Given the description of an element on the screen output the (x, y) to click on. 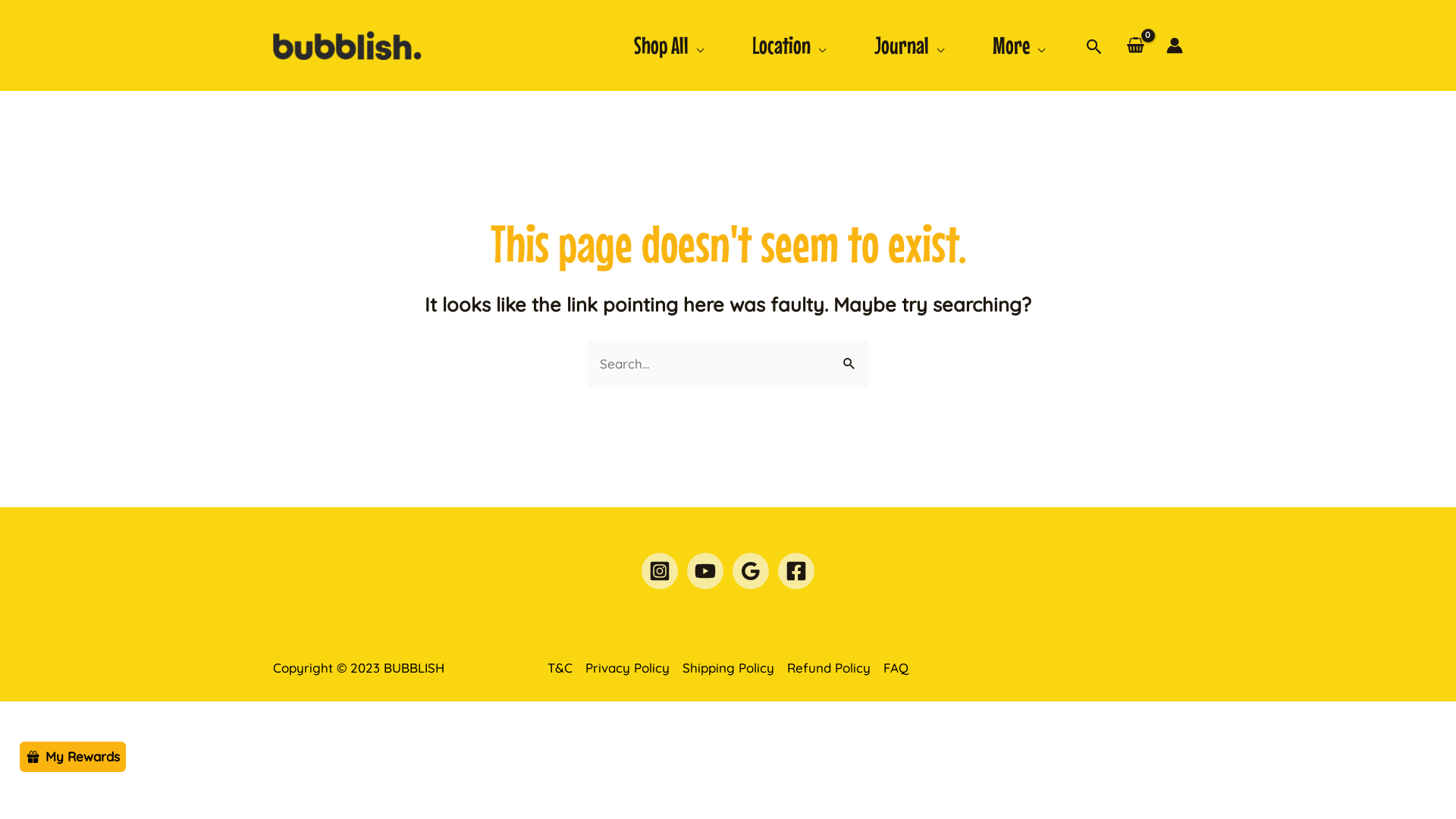
Shop All Element type: text (668, 45)
Privacy Policy Element type: text (627, 667)
Refund Policy Element type: text (829, 667)
Location Element type: text (789, 45)
Shipping Policy Element type: text (728, 667)
Journal Element type: text (909, 45)
More Element type: text (1018, 45)
Search Element type: text (851, 356)
T&C Element type: text (563, 667)
FAQ Element type: text (892, 667)
